Given the description of an element on the screen output the (x, y) to click on. 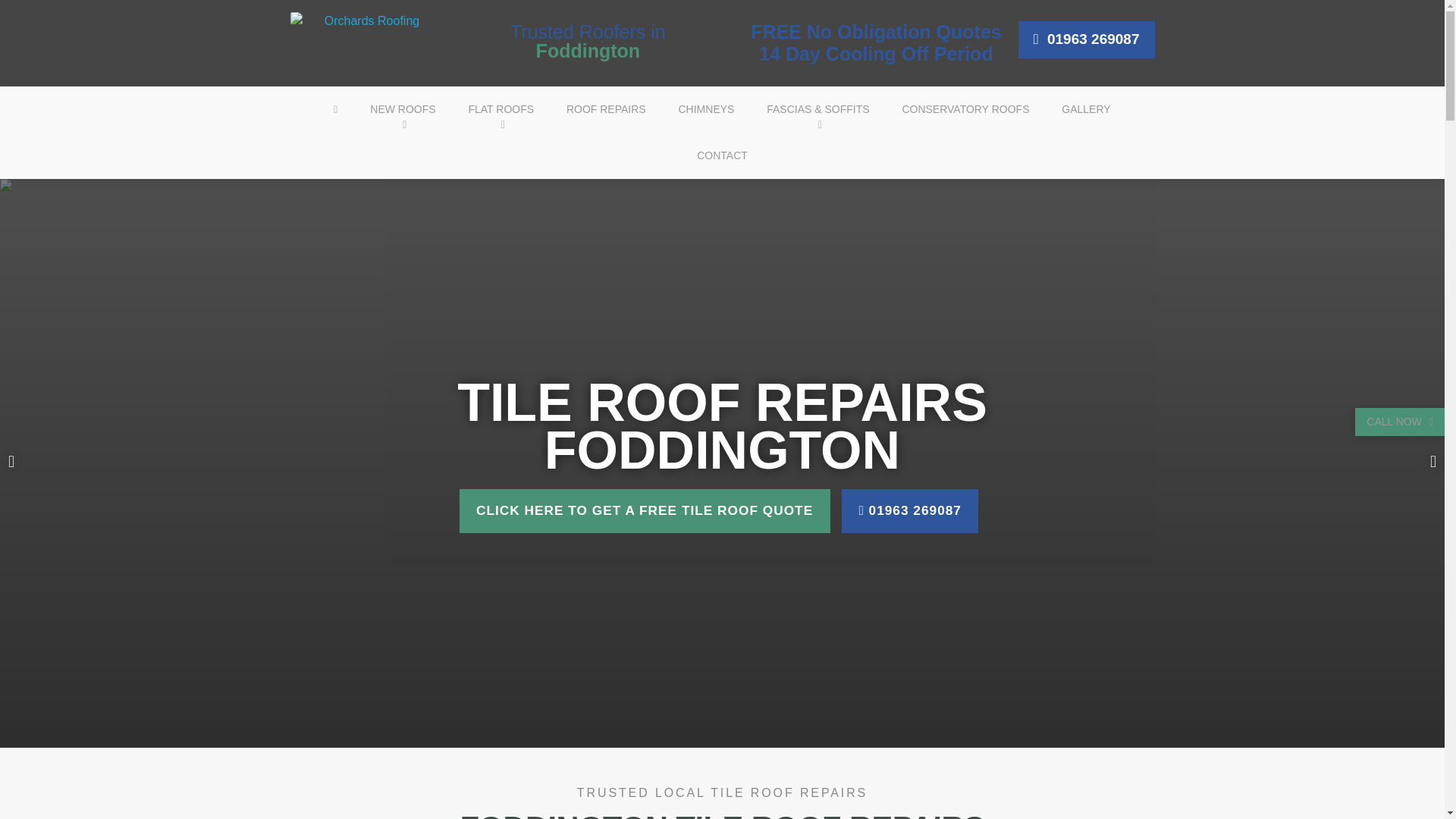
CONSERVATORY ROOFS (964, 109)
GALLERY (1085, 109)
01963 269087 (1085, 39)
CONTACT (721, 155)
NEW ROOFS (402, 109)
FLAT ROOFS (500, 109)
ROOF REPAIRS (606, 109)
01963 269087 (909, 510)
CHIMNEYS (705, 109)
CLICK HERE TO GET A FREE TILE ROOF QUOTE (644, 510)
Click to call Orchards Roofing Ltd (1085, 39)
